Given the description of an element on the screen output the (x, y) to click on. 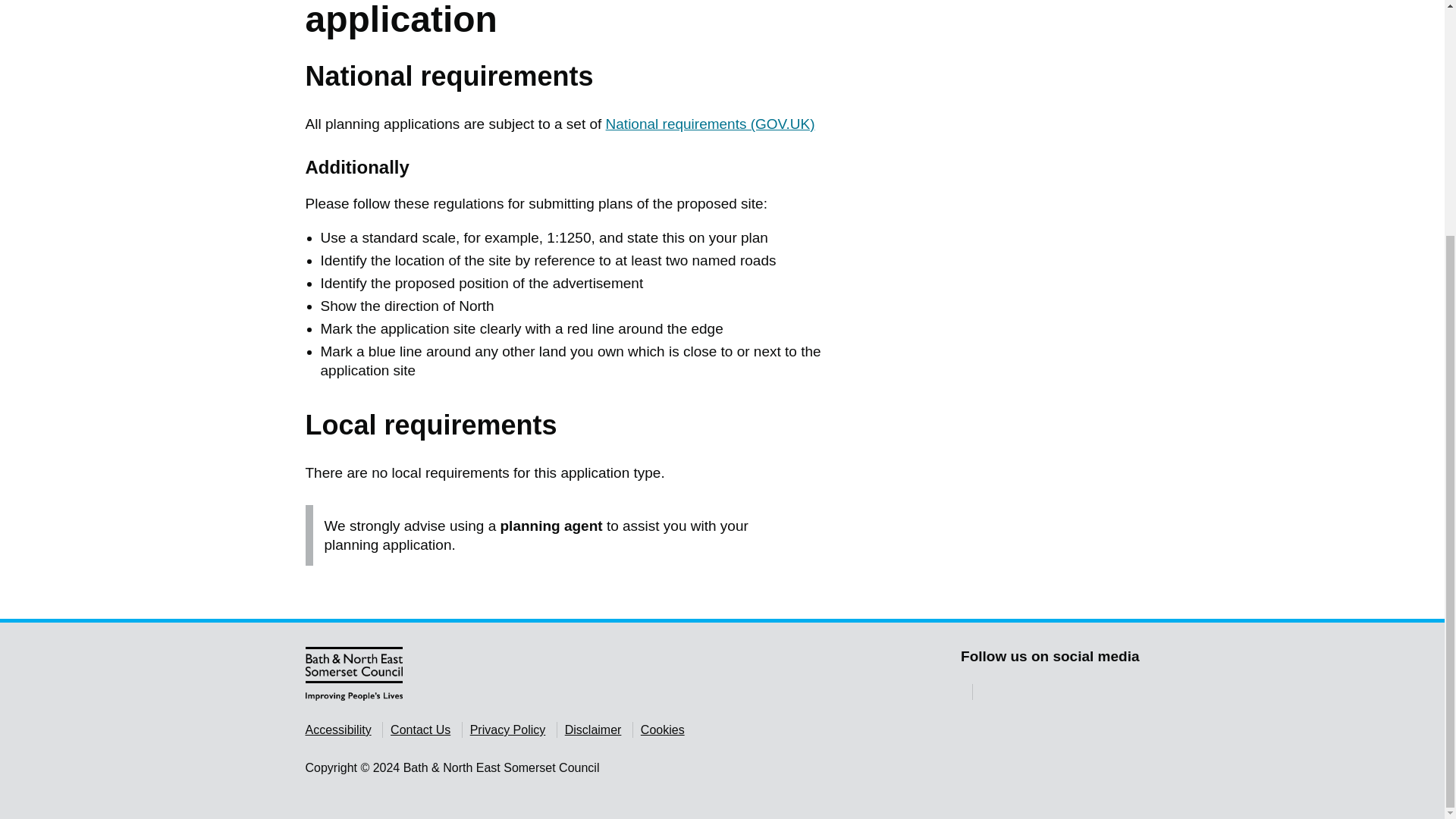
Privacy Policy (508, 729)
Contact Us (419, 729)
Cookies (662, 729)
Accessibility (337, 729)
Disclaimer (592, 729)
